Given the description of an element on the screen output the (x, y) to click on. 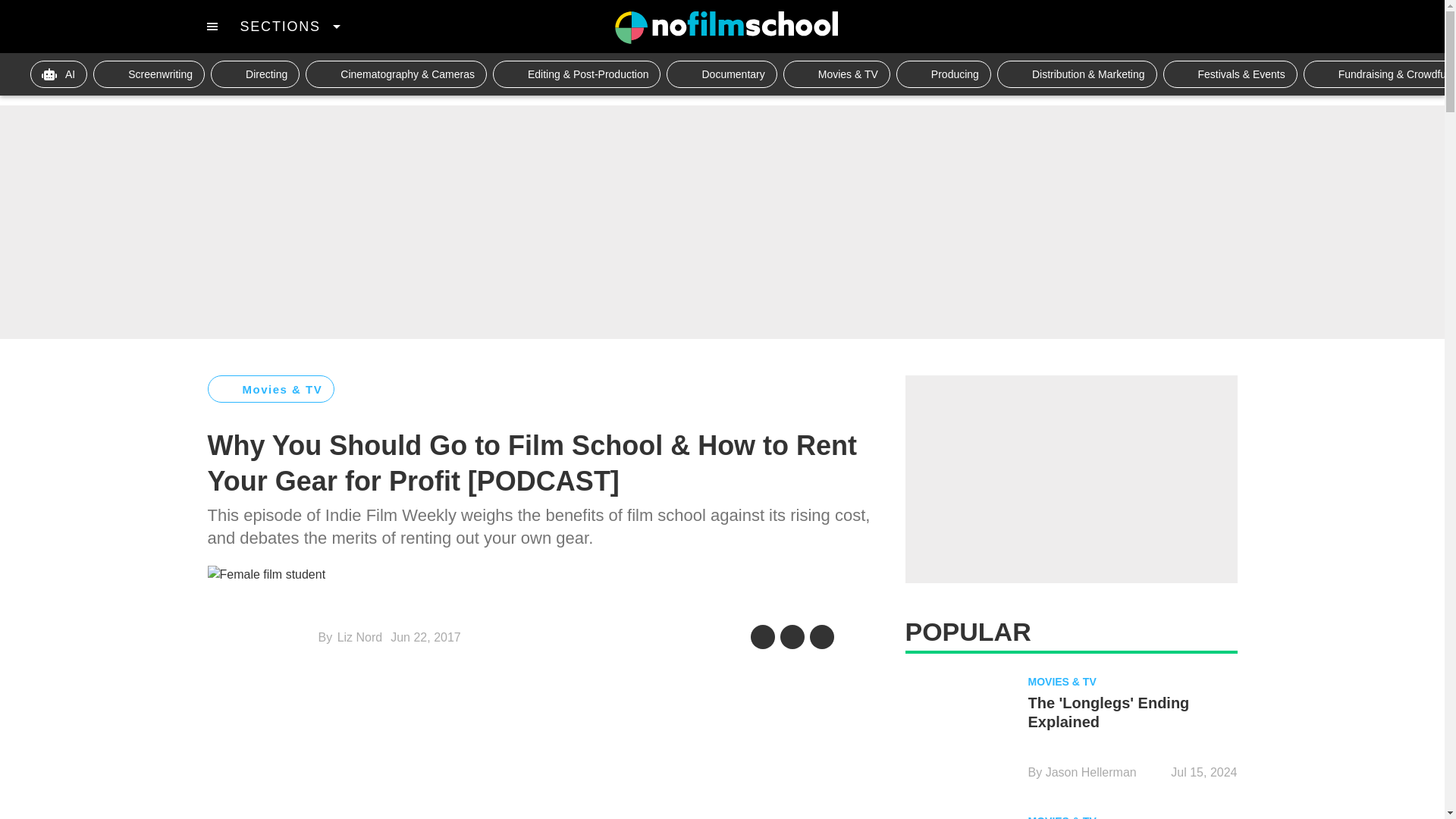
AI (58, 73)
Producing (943, 73)
Directing (255, 73)
SECTIONS (289, 26)
NO FILM SCHOOL (725, 27)
Screenwriting (149, 73)
NO FILM SCHOOL (725, 27)
Documentary (721, 73)
